Given the description of an element on the screen output the (x, y) to click on. 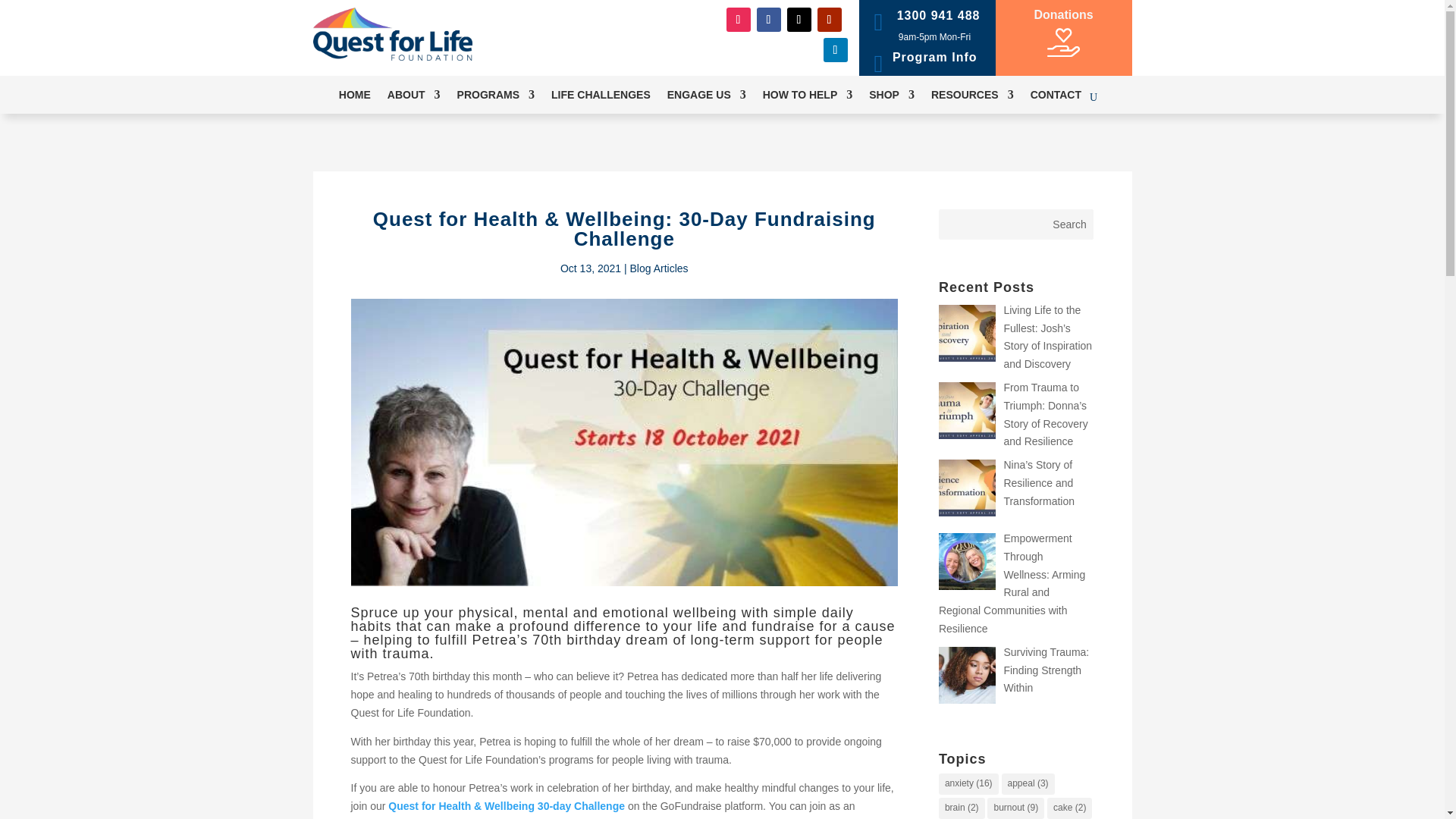
Follow on Instagram (738, 19)
Follow on Youtube (828, 19)
Quest for Life Foundation (392, 33)
Follow on Facebook (768, 19)
Follow on LinkedIn (835, 49)
Search (1069, 224)
Follow on X (798, 19)
Donation (1063, 41)
